Given the description of an element on the screen output the (x, y) to click on. 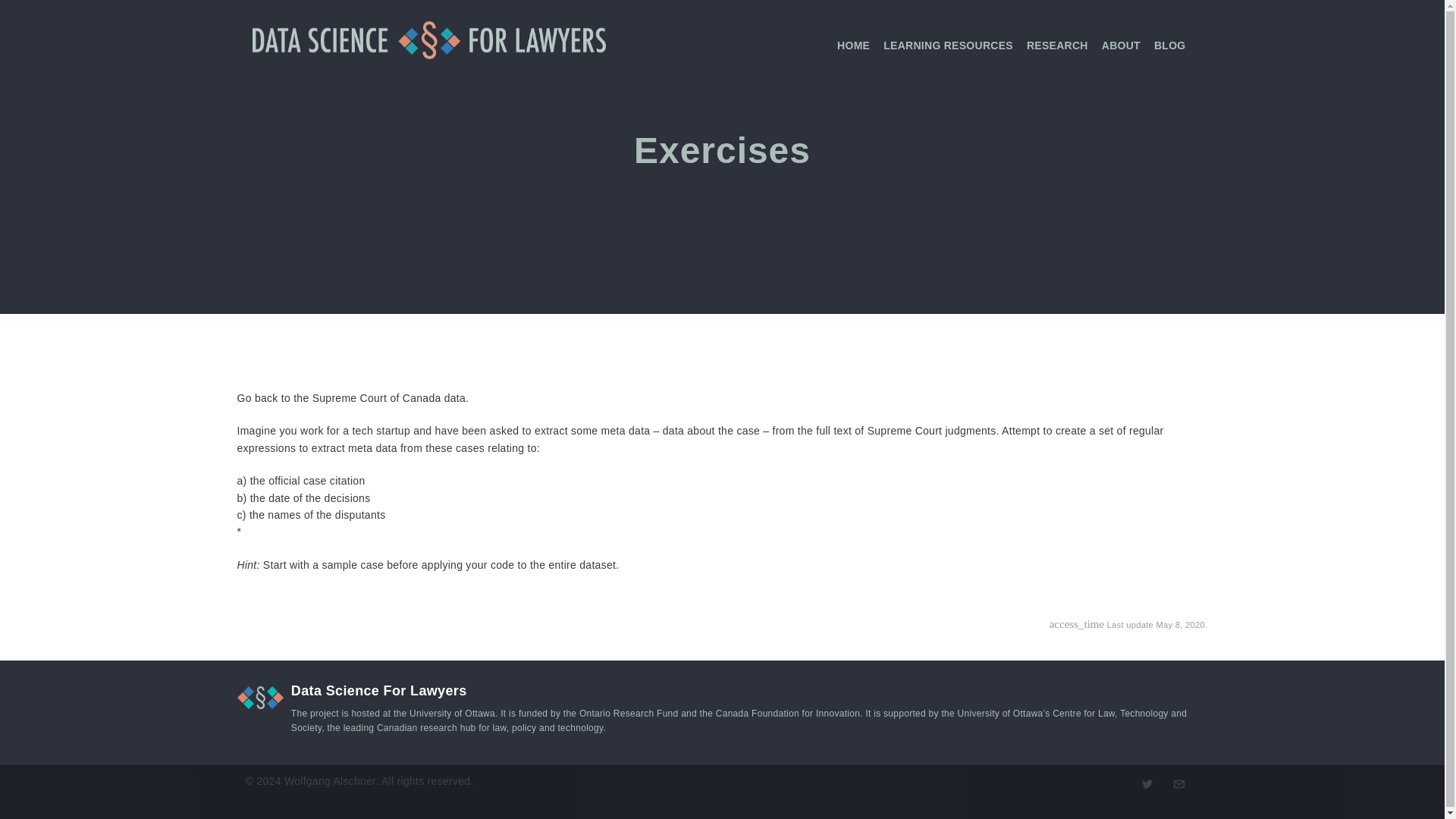
RESEARCH (1056, 45)
BLOG (1170, 45)
HOME (853, 45)
LEARNING RESOURCES (948, 45)
ABOUT (1121, 45)
